Given the description of an element on the screen output the (x, y) to click on. 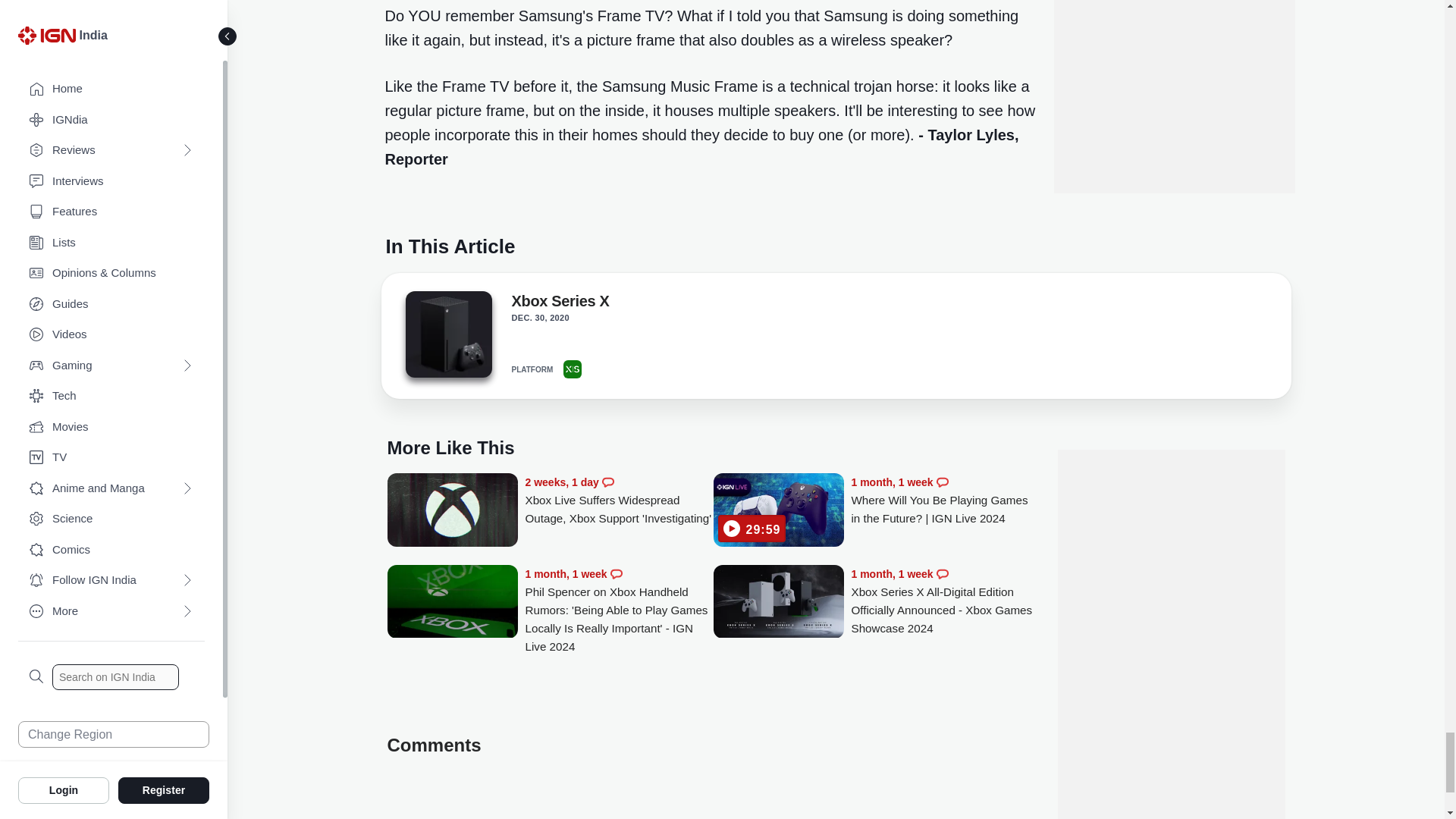
Xbox Series X (448, 338)
Xbox Series X (559, 303)
Xbox Series X (448, 334)
